Given the description of an element on the screen output the (x, y) to click on. 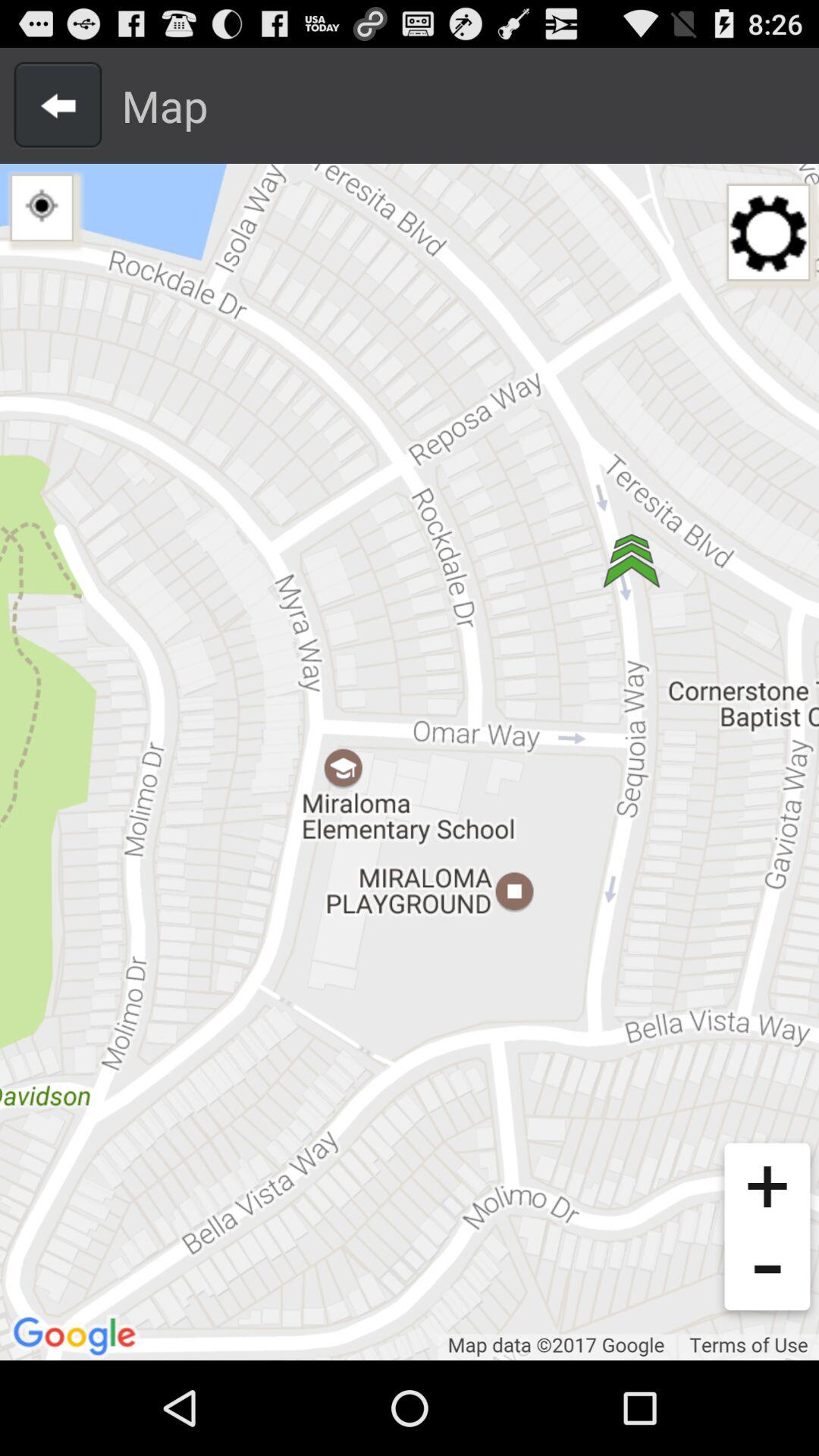
go to previous (57, 105)
